Given the description of an element on the screen output the (x, y) to click on. 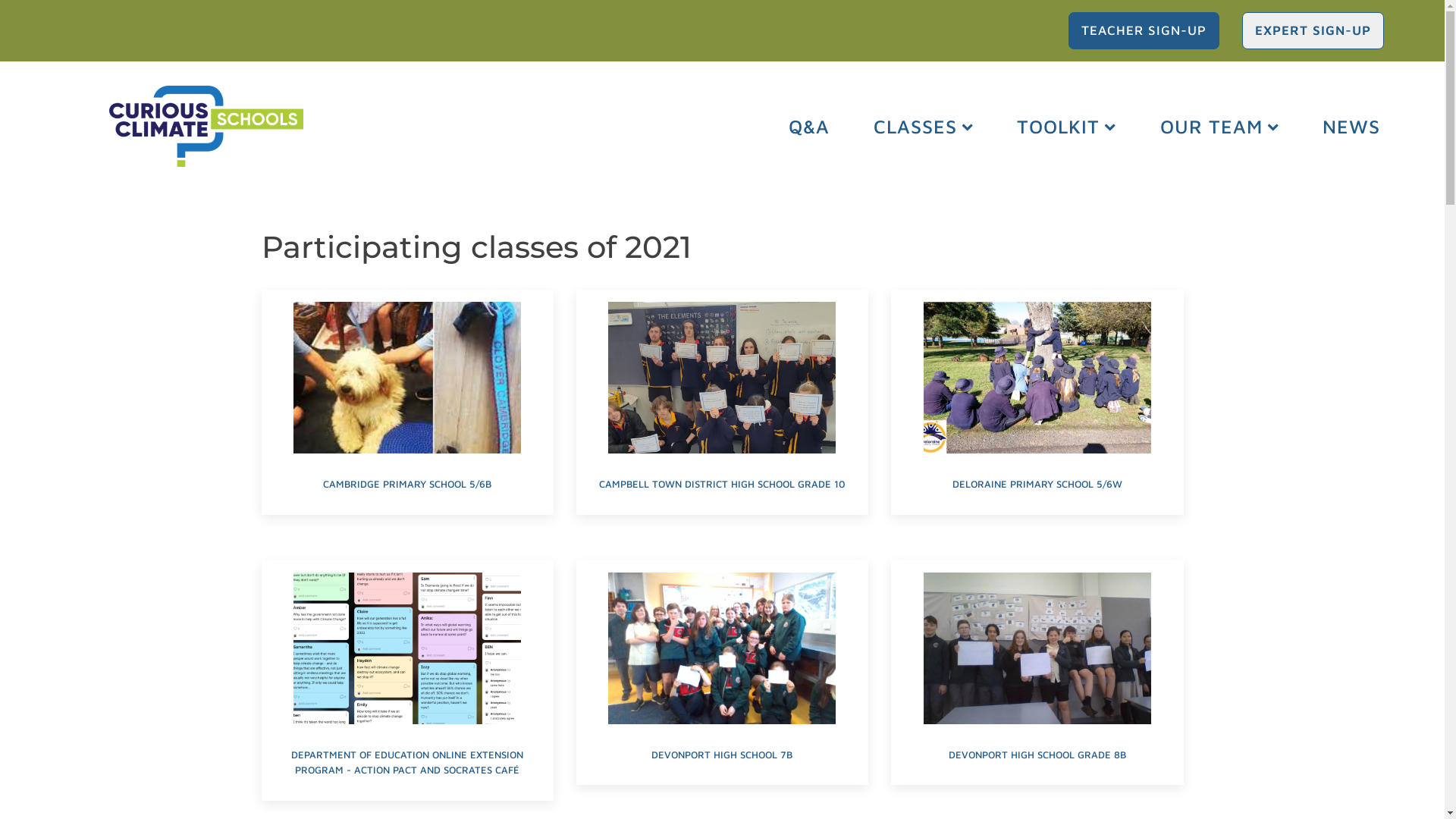
DEVONPORT HIGH SCHOOL GRADE 8B Element type: text (1037, 672)
Q&A Element type: text (808, 126)
DEVONPORT HIGH SCHOOL 7B Element type: text (722, 672)
CAMBRIDGE PRIMARY SCHOOL 5/6B Element type: text (406, 401)
CAMPBELL TOWN DISTRICT HIGH SCHOOL GRADE 10 Element type: text (722, 401)
CLASSES Element type: text (922, 126)
OUR TEAM Element type: text (1219, 126)
NEWS Element type: text (1350, 126)
EXPERT SIGN-UP Element type: text (1312, 30)
DELORAINE PRIMARY SCHOOL 5/6W Element type: text (1037, 401)
TEACHER SIGN-UP Element type: text (1143, 30)
TOOLKIT Element type: text (1066, 126)
